Given the description of an element on the screen output the (x, y) to click on. 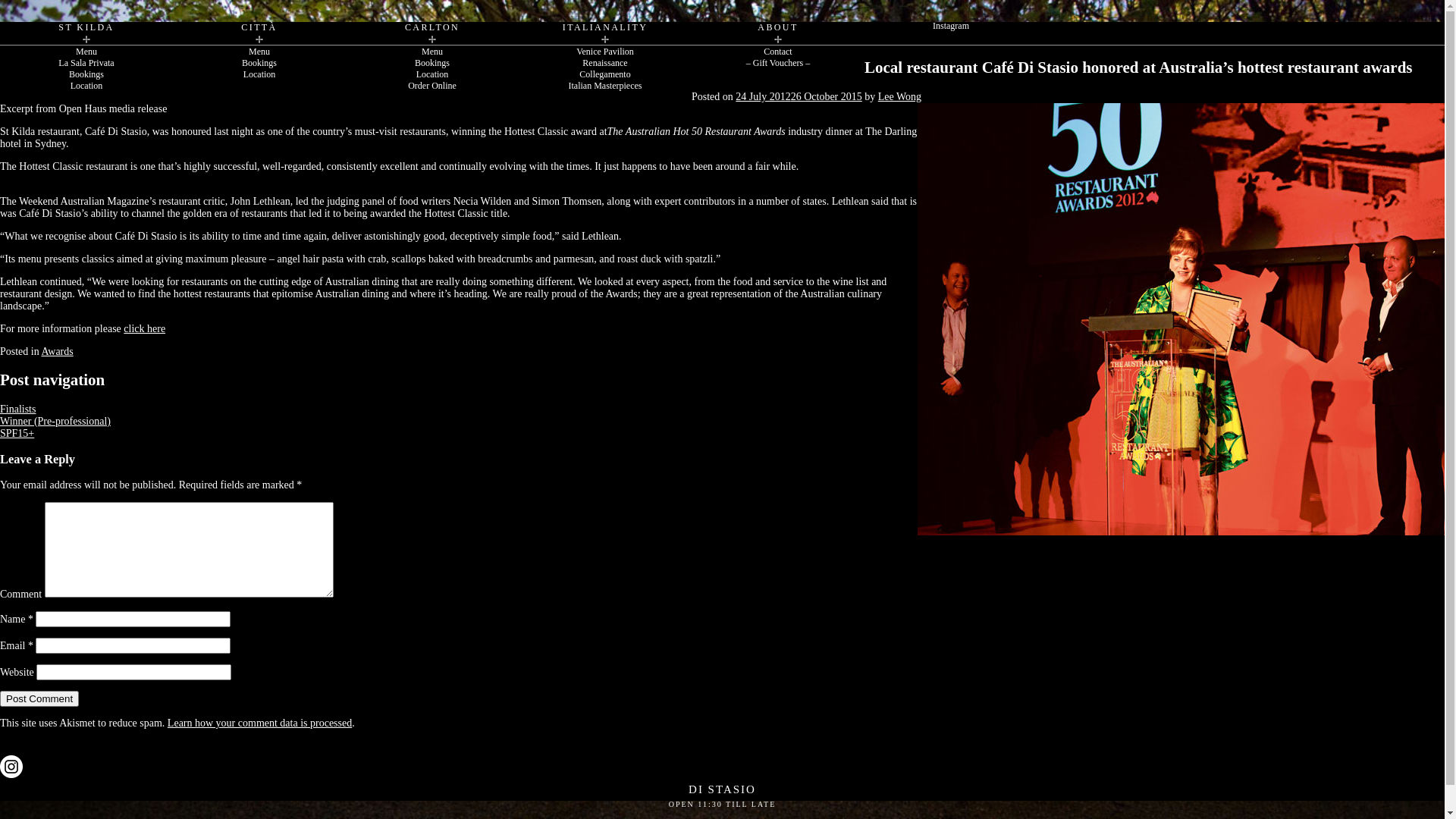
Contact Element type: text (777, 51)
La Sala Privata Element type: text (86, 63)
Menu Element type: text (431, 51)
ABOUT Element type: text (777, 32)
Italian Masterpieces Element type: text (604, 85)
Instagram Element type: hover (11, 766)
Renaissance Element type: text (604, 63)
Winner (Pre-professional)
SPF15+ Element type: text (55, 427)
Lee Wong Element type: text (899, 96)
Venice Pavilion Element type: text (604, 51)
Location Element type: text (431, 74)
Instagram Element type: text (950, 25)
Finalists Element type: text (17, 408)
Bookings Element type: text (258, 63)
Menu Element type: text (258, 51)
Bookings Element type: text (86, 74)
Awards Element type: text (56, 351)
24 July 201226 October 2015 Element type: text (798, 96)
Bookings Element type: text (431, 63)
DI STASIO
OPEN 11:30 TILL LATE Element type: text (722, 798)
CARLTON Element type: text (431, 32)
Post Comment Element type: text (39, 698)
Location Element type: text (258, 74)
Order Online Element type: text (431, 85)
Learn how your comment data is processed Element type: text (259, 722)
Location Element type: text (86, 85)
Menu Element type: text (86, 51)
ITALIANALITY Element type: text (604, 32)
ST KILDA Element type: text (86, 32)
Collegamento Element type: text (604, 74)
distasio_news_hot-50-restaurant-awards Element type: hover (1180, 319)
click here Element type: text (144, 328)
